Given the description of an element on the screen output the (x, y) to click on. 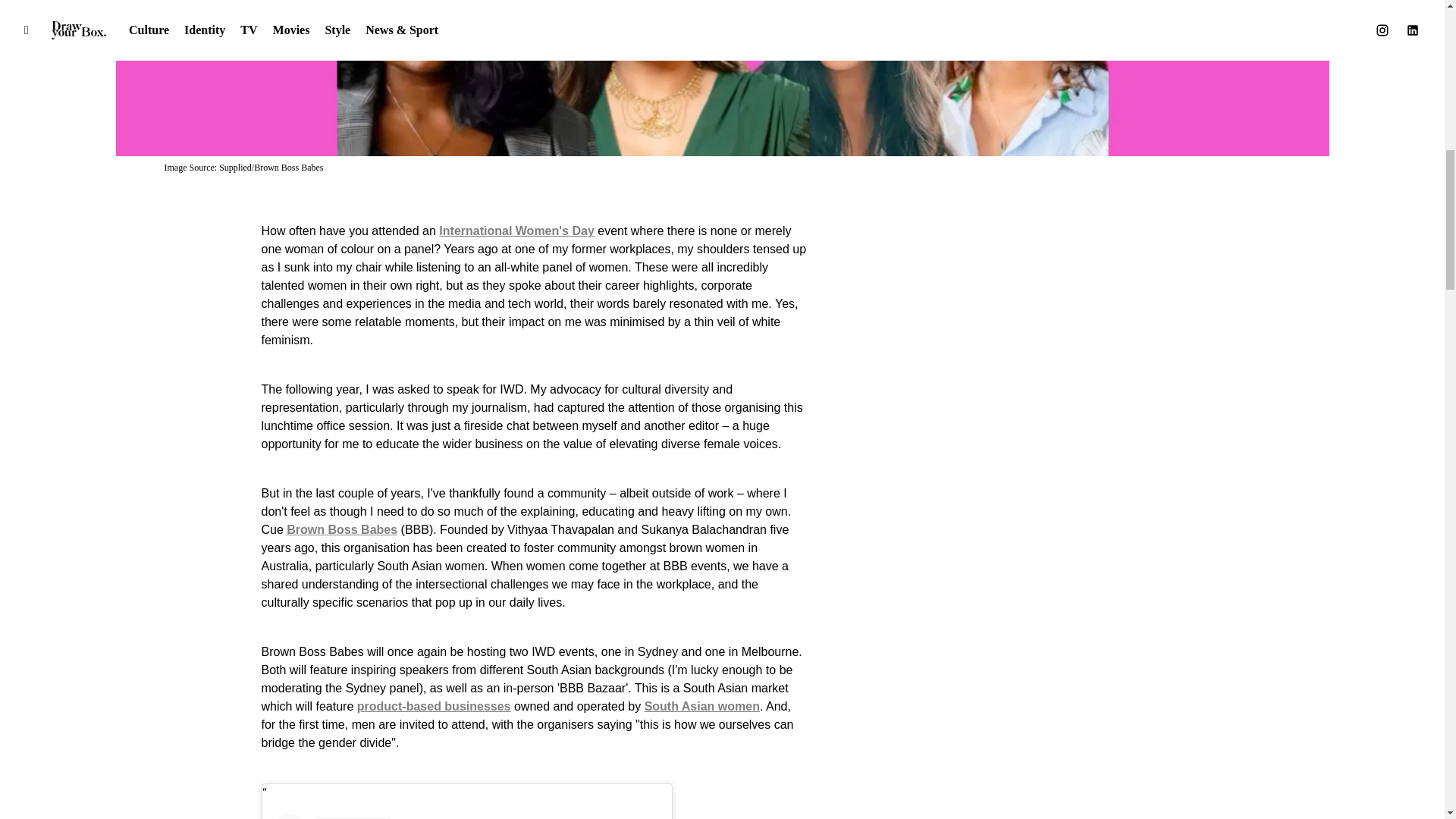
View this post on Instagram (467, 816)
Brown Boss Babes (341, 529)
product-based businesses (433, 706)
South Asian women (702, 706)
International Women's Day (516, 230)
